Given the description of an element on the screen output the (x, y) to click on. 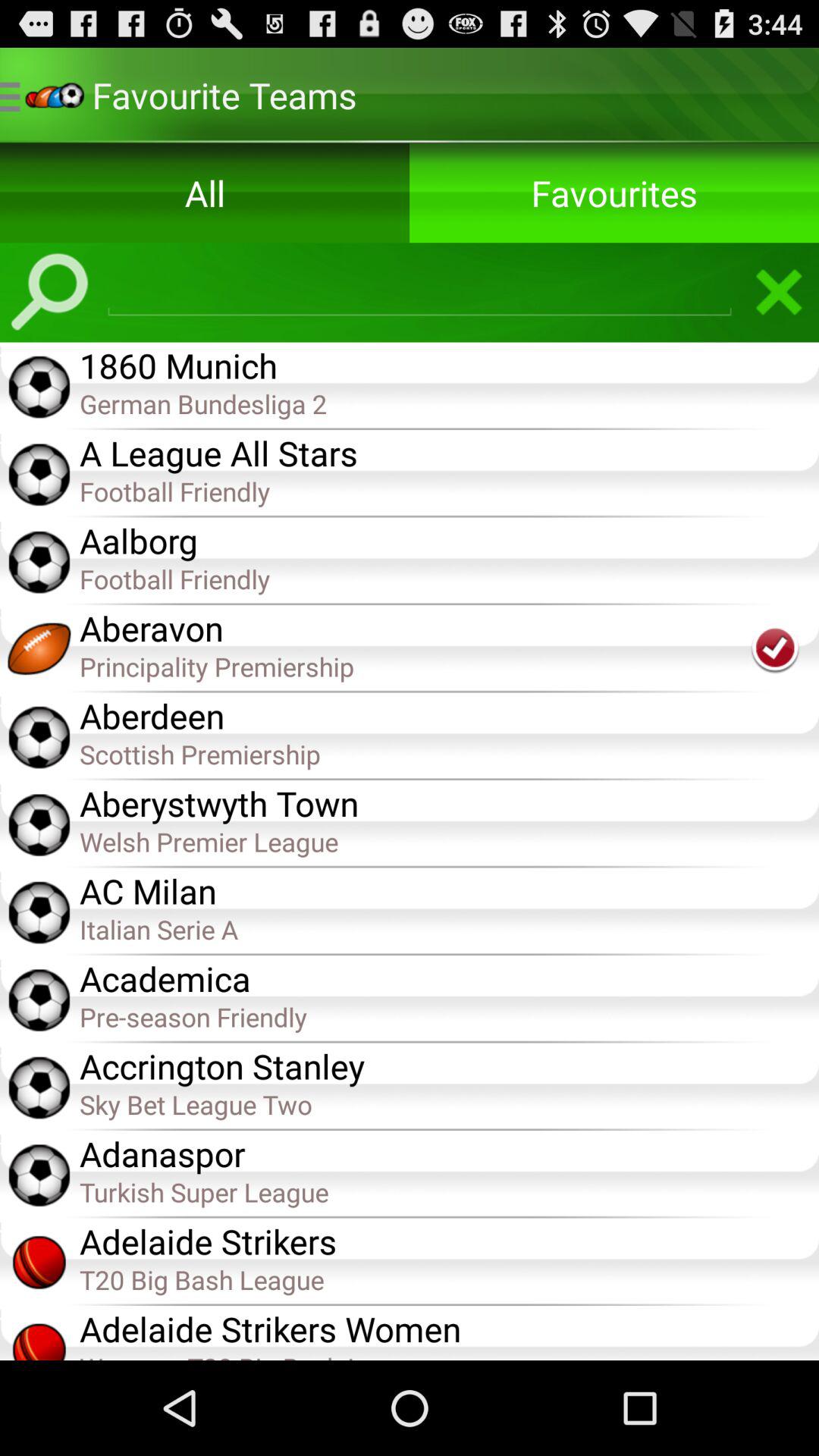
scroll to the aalborg app (449, 539)
